Given the description of an element on the screen output the (x, y) to click on. 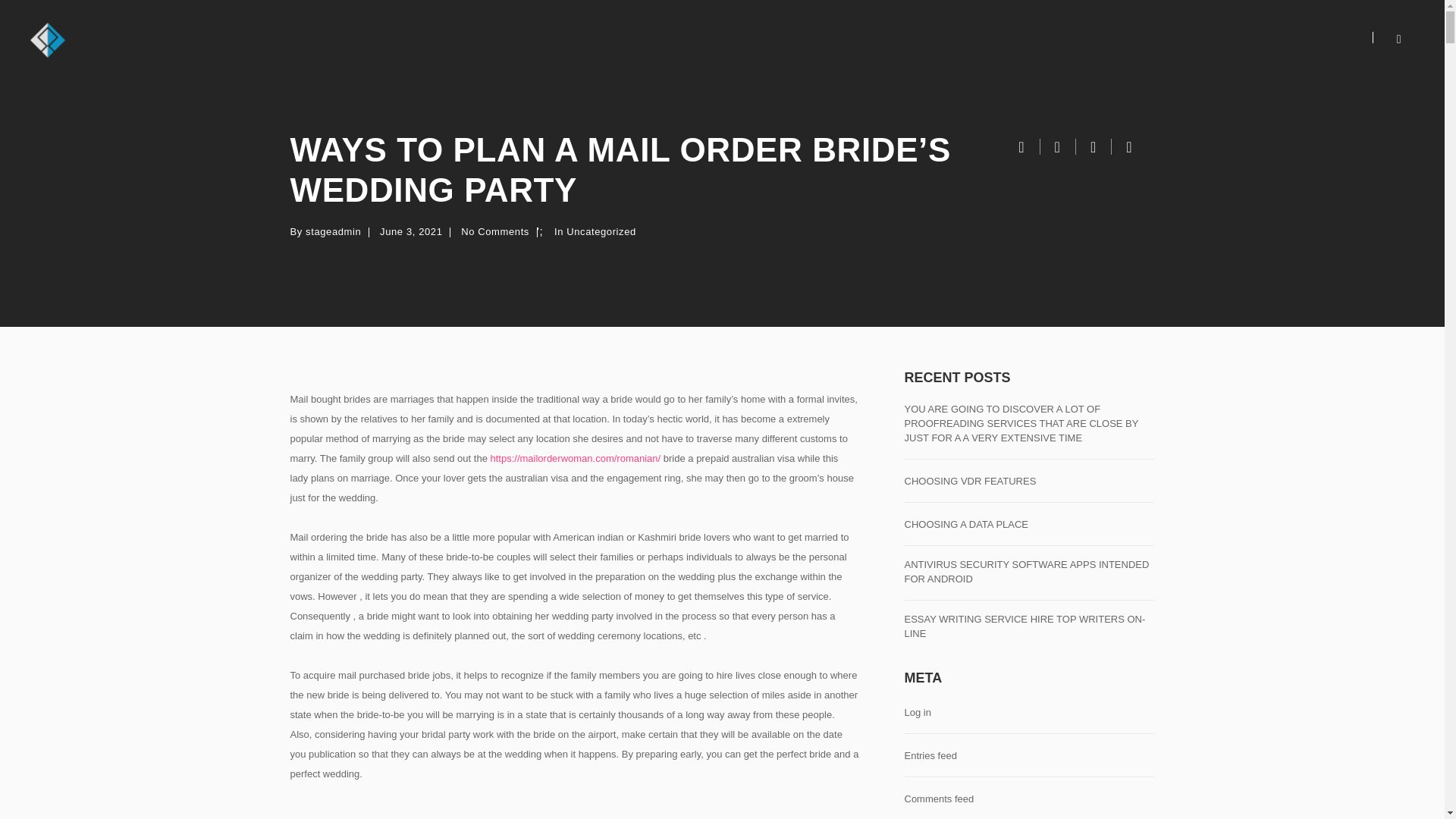
Comments feed (939, 799)
ANTIVIRUS SECURITY SOFTWARE APPS INTENDED FOR ANDROID (1029, 572)
Log in (917, 712)
stageadmin (333, 232)
Posts by stageadmin (333, 232)
CHOOSING VDR FEATURES (969, 481)
CHOOSING A DATA PLACE (965, 524)
ESSAY WRITING SERVICE HIRE TOP WRITERS ON-LINE (1029, 626)
Entries feed (930, 756)
Uncategorized (602, 232)
